Given the description of an element on the screen output the (x, y) to click on. 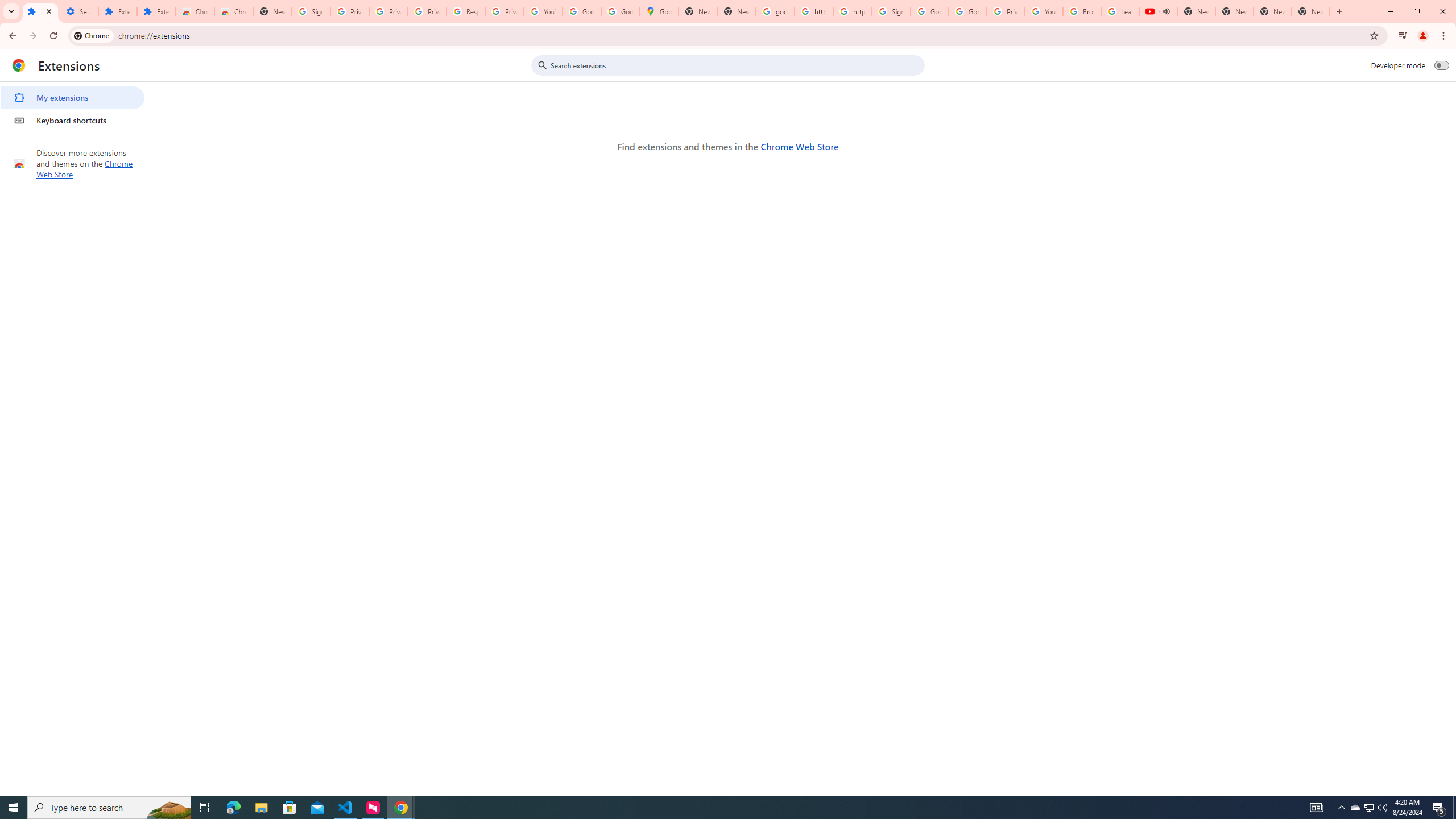
YouTube (542, 11)
My extensions (72, 97)
Developer mode (1442, 64)
https://scholar.google.com/ (813, 11)
